Given the description of an element on the screen output the (x, y) to click on. 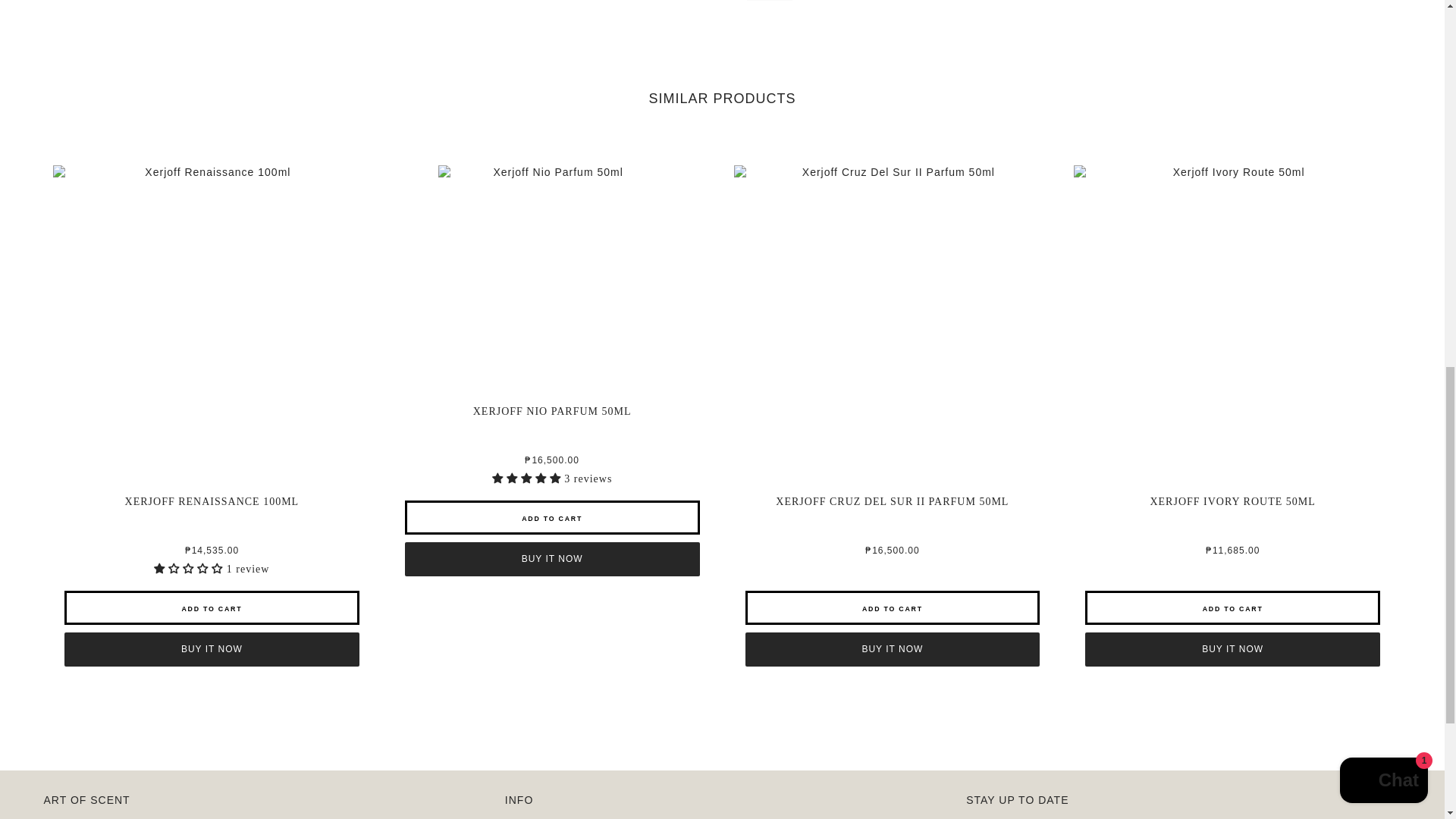
Add to Cart (552, 517)
Add to Cart (1232, 607)
Add to Cart (211, 607)
Add to Cart (891, 607)
